Given the description of an element on the screen output the (x, y) to click on. 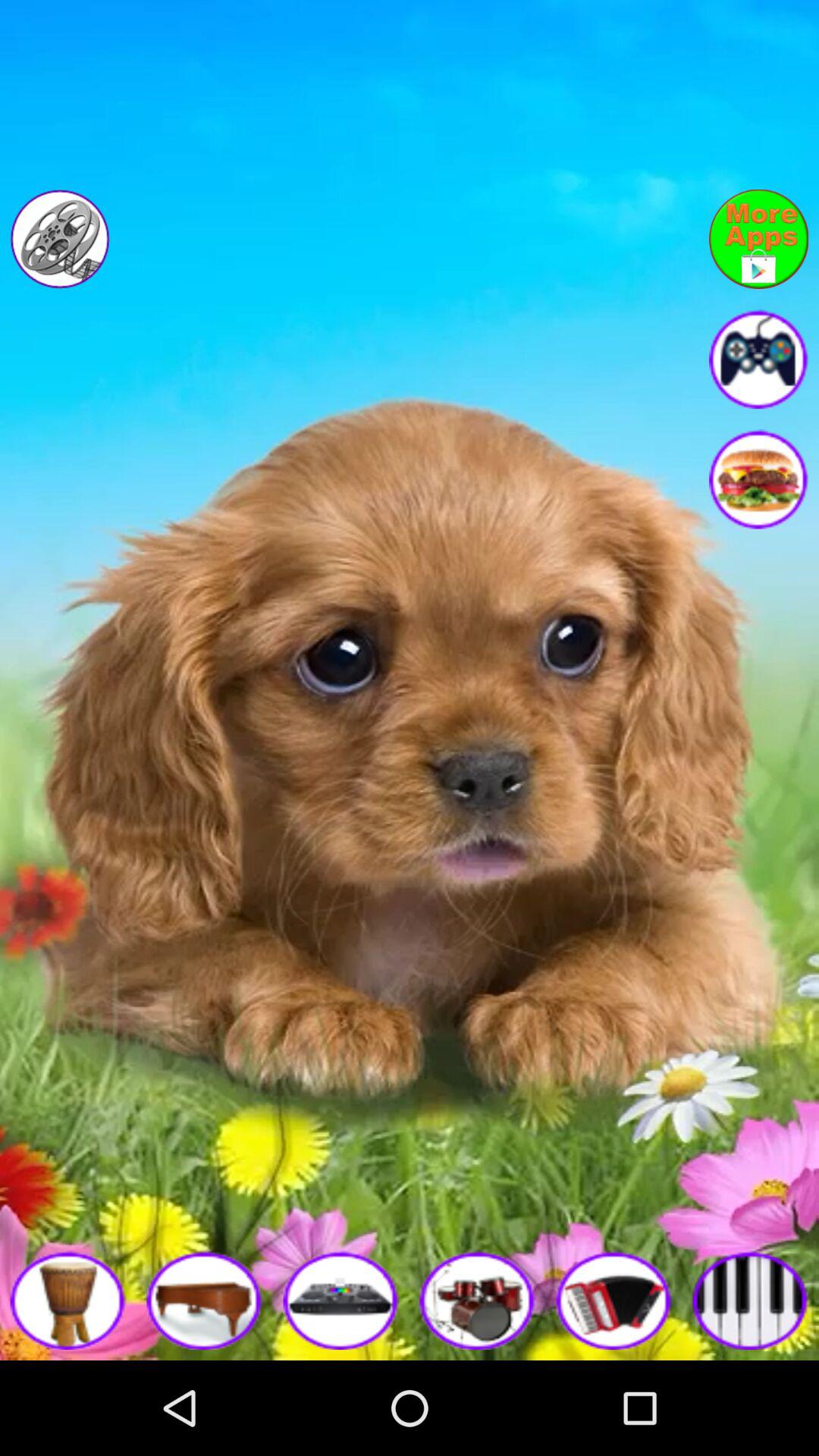
advertisement (758, 478)
